Given the description of an element on the screen output the (x, y) to click on. 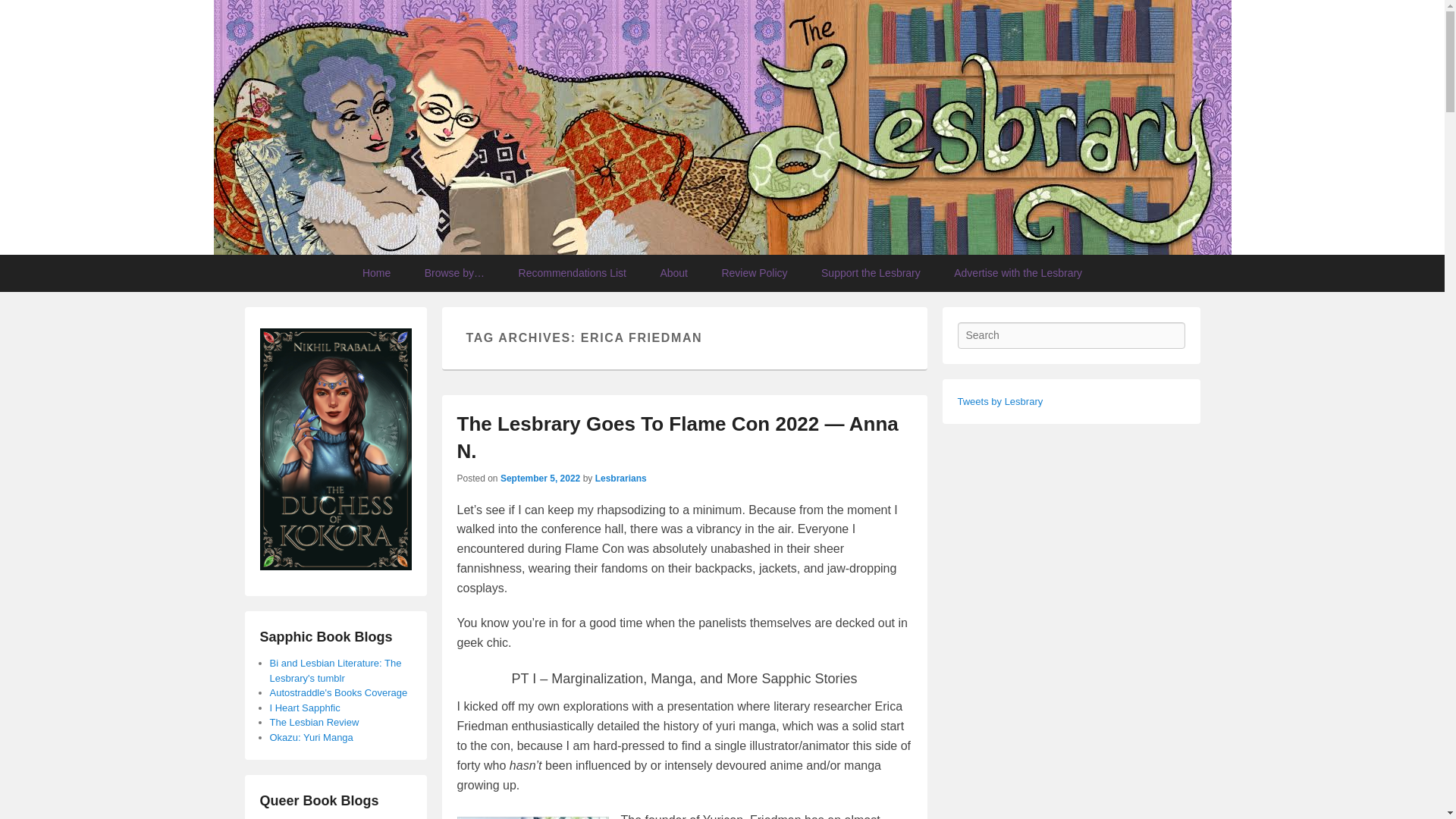
View all posts by Lesbrarians (620, 478)
5:25 pm (539, 478)
Home (376, 272)
